Given the description of an element on the screen output the (x, y) to click on. 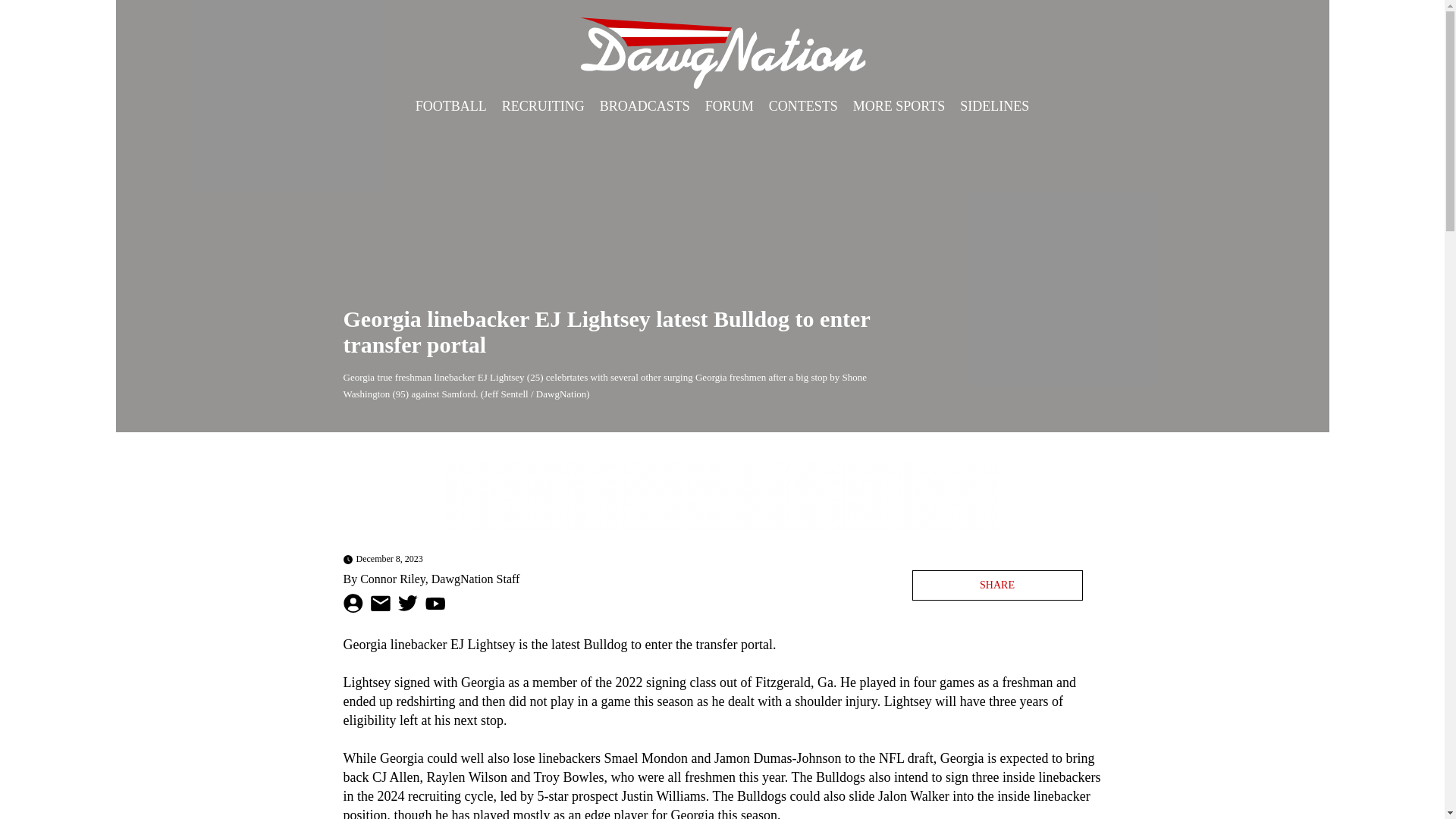
MEN'S BASKETBALL (951, 135)
BROADCASTS (644, 106)
EmailEmail (379, 603)
RECRUITING (543, 106)
AROUND THE DAWGHOUSE (513, 135)
TwitterVisit our Twitter page. (406, 602)
CONTESTS (803, 106)
FORUM (729, 106)
YoutubeVisit our Youtube page. (434, 603)
ProfileProfile (352, 603)
